Given the description of an element on the screen output the (x, y) to click on. 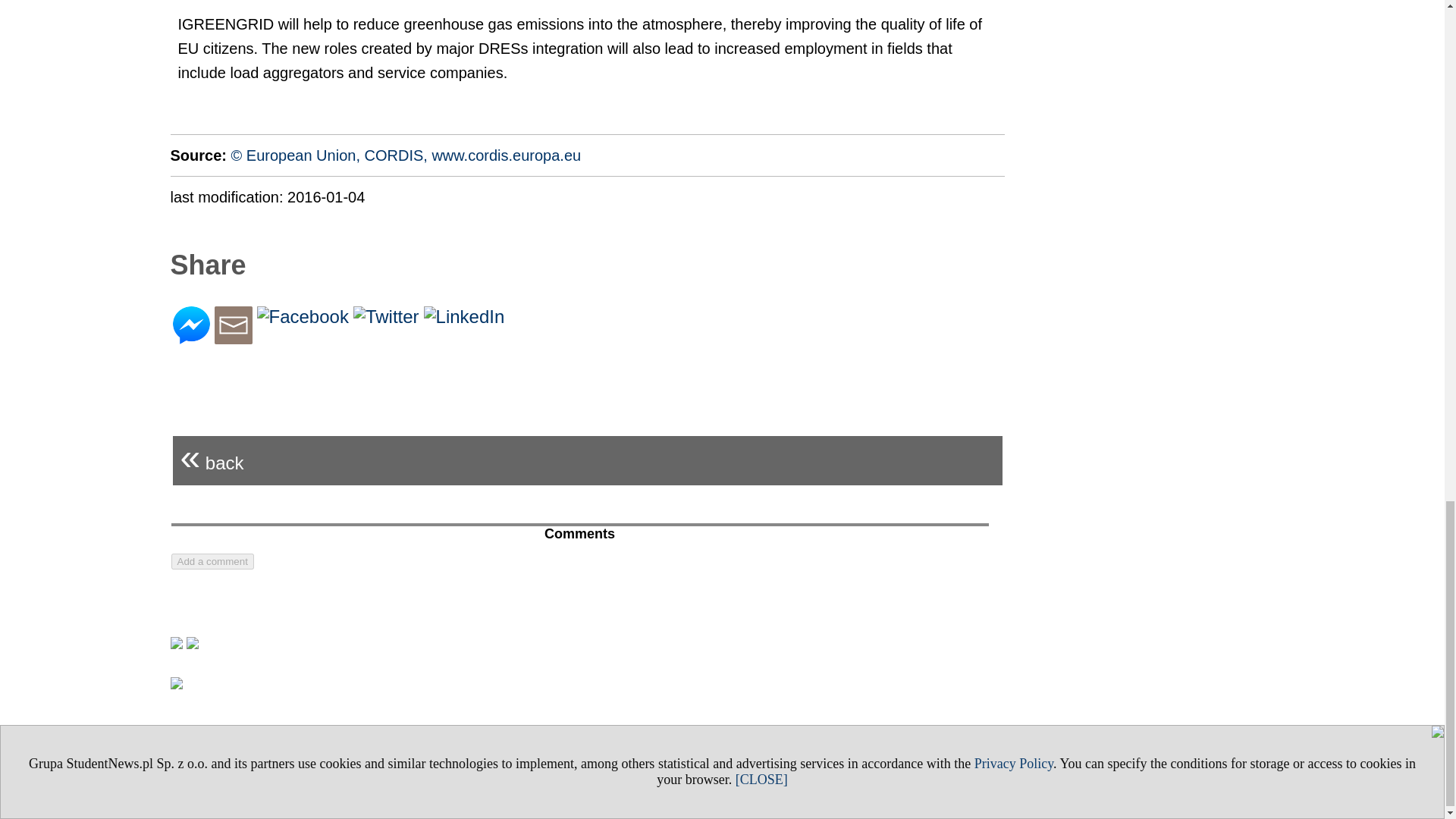
e-mail (232, 337)
LinkedIn (464, 316)
Twitter (386, 316)
Messenger (191, 337)
Facebook (301, 316)
Add a comment (212, 561)
